Given the description of an element on the screen output the (x, y) to click on. 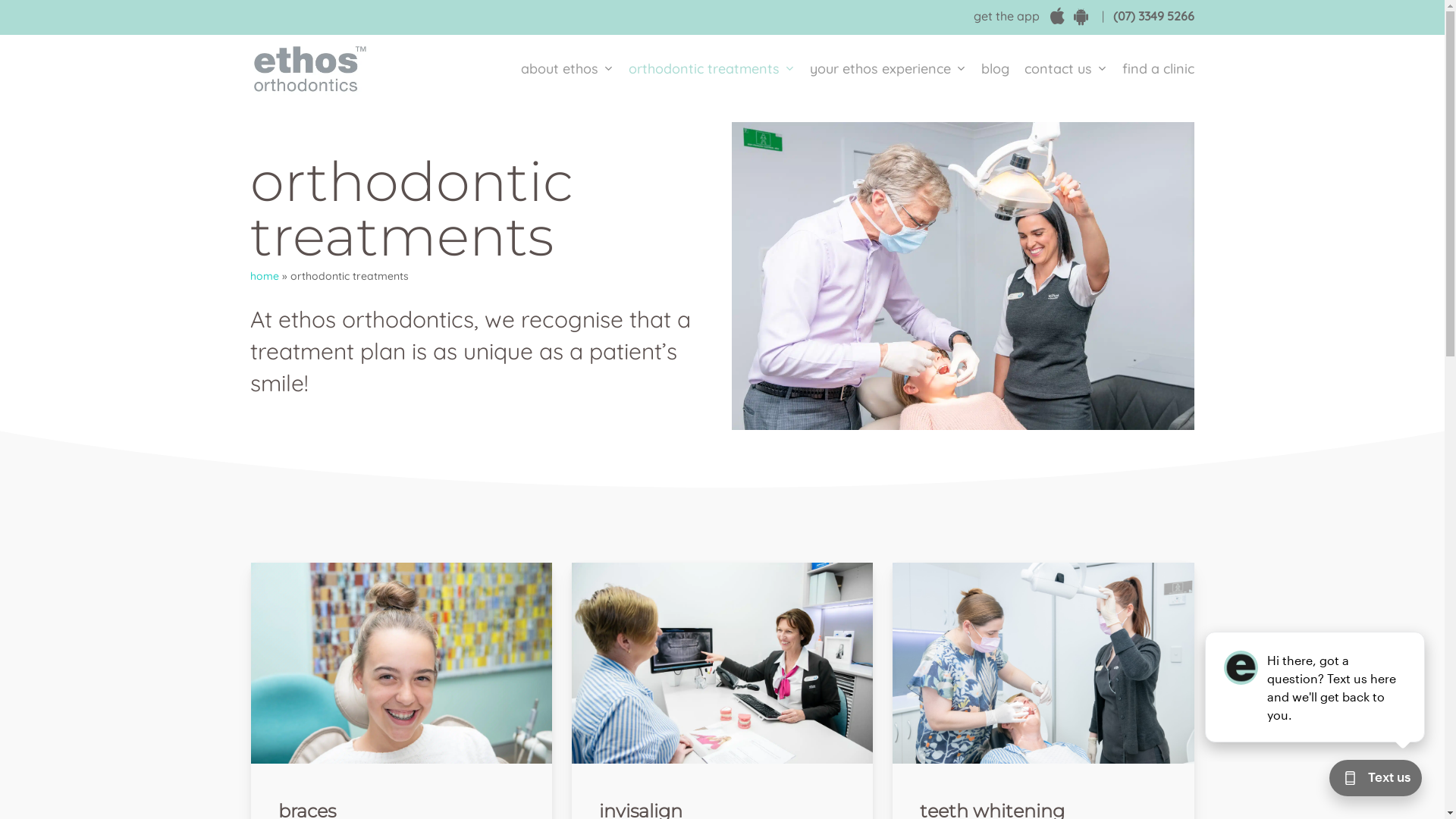
home Element type: text (264, 275)
blog Element type: text (994, 68)
podium webchat widget prompt Element type: hover (1315, 686)
about ethos Element type: text (567, 68)
contact us Element type: text (1065, 68)
(07) 3349 5266 Element type: text (1153, 15)
orthodontic treatments Element type: text (711, 68)
find a clinic Element type: text (1154, 68)
your ethos experience Element type: text (887, 68)
